Given the description of an element on the screen output the (x, y) to click on. 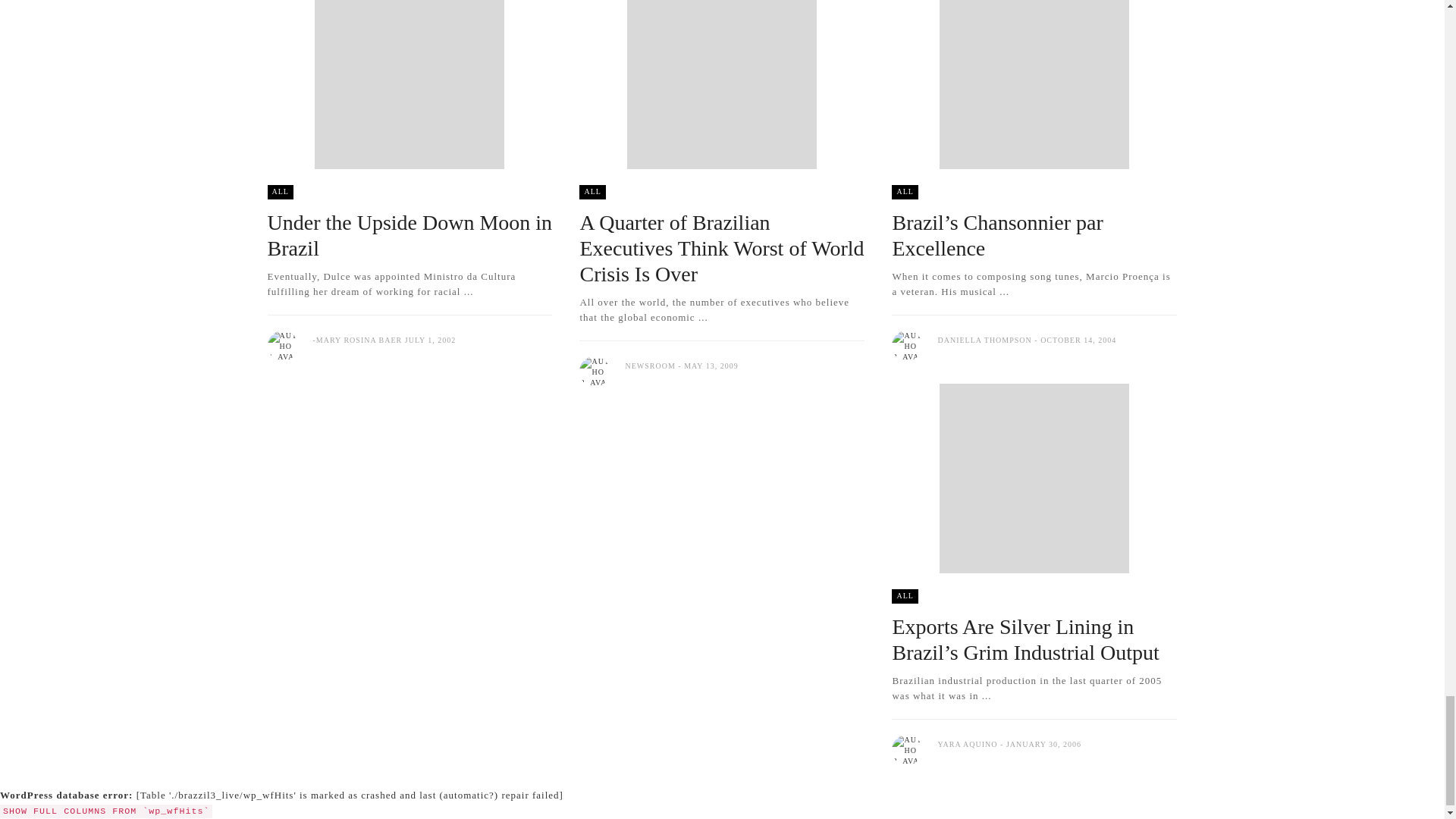
View all posts in 1 (904, 595)
View all posts in 1 (592, 192)
View all posts in 1 (904, 192)
View all posts in 1 (279, 192)
